Given the description of an element on the screen output the (x, y) to click on. 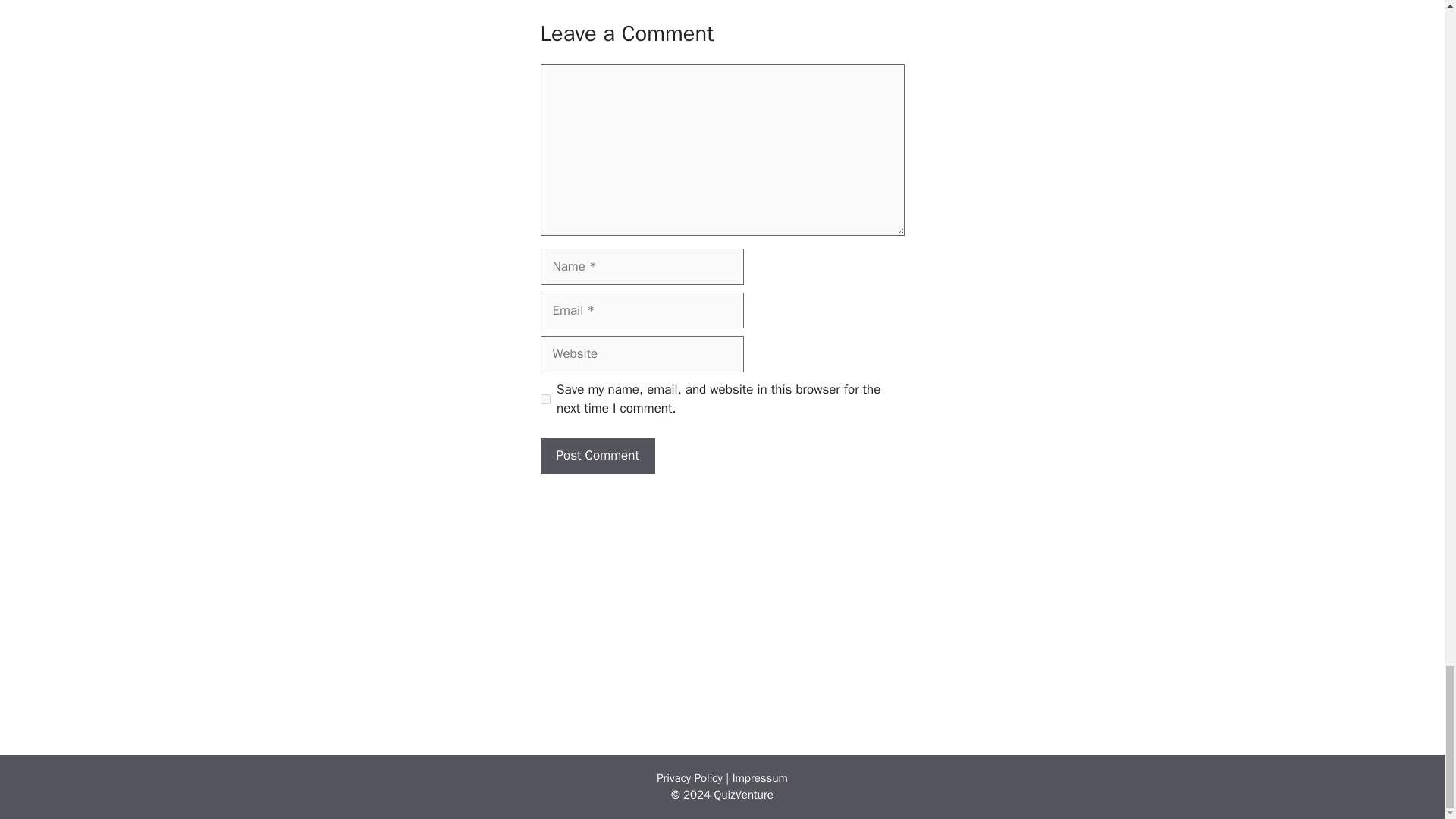
Post Comment (596, 455)
Privacy Policy (689, 777)
yes (545, 398)
Post Comment (596, 455)
Impressum (759, 777)
